Given the description of an element on the screen output the (x, y) to click on. 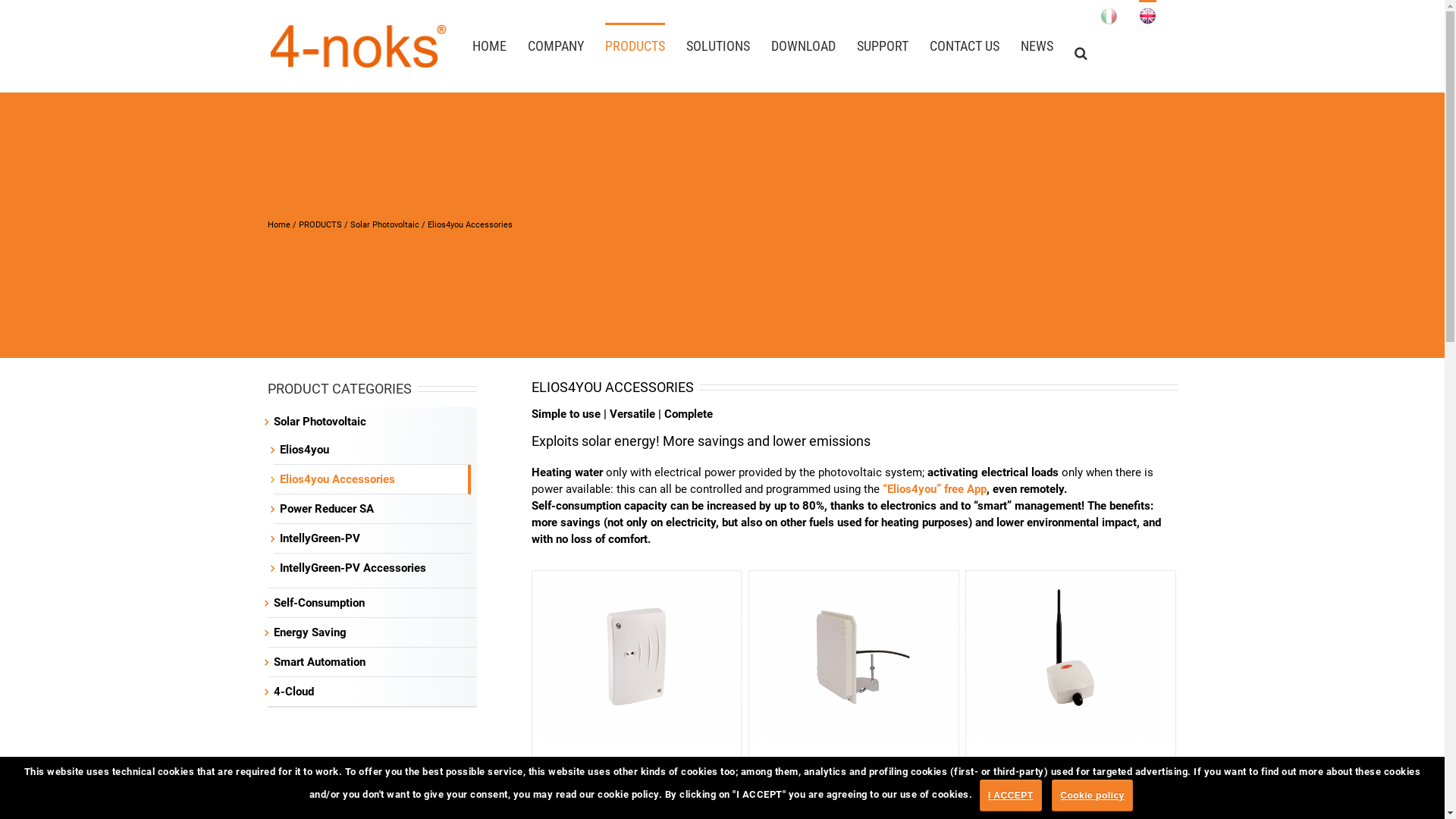
Elios4you Element type: text (303, 449)
Energy Saving Element type: text (309, 632)
Radio Repeater RC Element type: text (1040, 766)
Elios4you Accessories Element type: text (336, 479)
I ACCEPT Element type: text (1010, 795)
Solar Photovoltaic Element type: text (319, 421)
 / PRODUCTS Element type: text (315, 224)
HOME Element type: text (488, 44)
4-Cloud Element type: text (293, 691)
SOLUTIONS Element type: text (717, 44)
SUPPORT Element type: text (882, 44)
Smart Relay RC Element type: text (594, 766)
Cookie policy Element type: text (1091, 795)
IntellyGreen-PV Element type: text (319, 538)
PRODUCTS Element type: text (635, 44)
DOWNLOAD Element type: text (802, 44)
Self-Consumption Element type: text (318, 602)
Power Reducer SA Element type: text (326, 508)
NEWS Element type: text (1036, 44)
COMPANY Element type: text (555, 44)
Solar Photovoltaic Element type: text (384, 224)
CONTACT US Element type: text (964, 44)
Smart Automation Element type: text (318, 661)
Directional antenna Element type: text (826, 766)
Home Element type: text (277, 224)
IntellyGreen-PV Accessories Element type: text (352, 567)
